Given the description of an element on the screen output the (x, y) to click on. 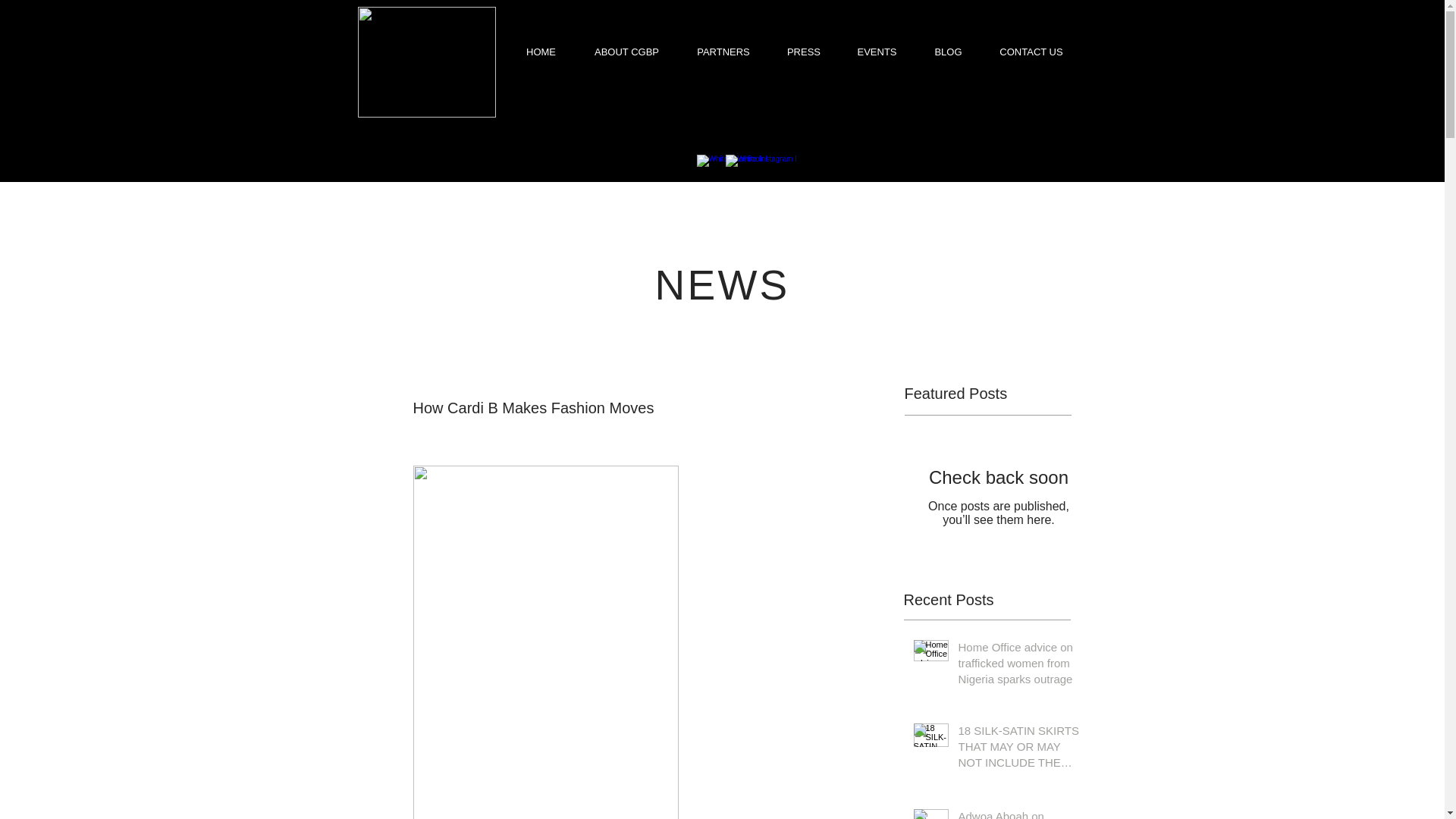
PRESS (804, 51)
HOME (540, 51)
ABOUT CGBP (626, 51)
CONTACT US (1030, 51)
BLOG (947, 51)
EVENTS (876, 51)
PARTNERS (723, 51)
